Given the description of an element on the screen output the (x, y) to click on. 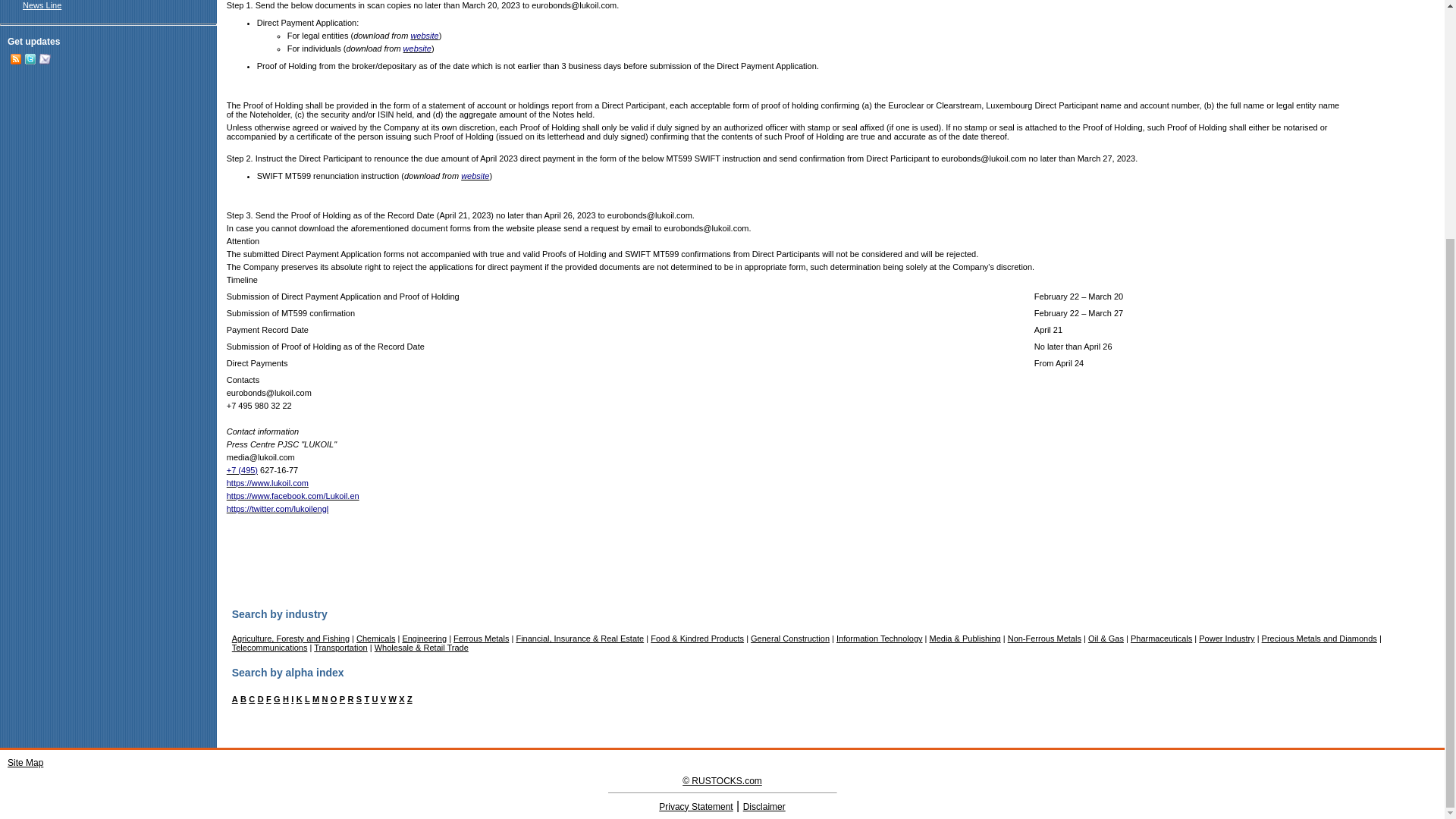
RSS (15, 59)
Media Corner (36, 0)
email (44, 61)
News Line (42, 4)
twitter (30, 59)
